Given the description of an element on the screen output the (x, y) to click on. 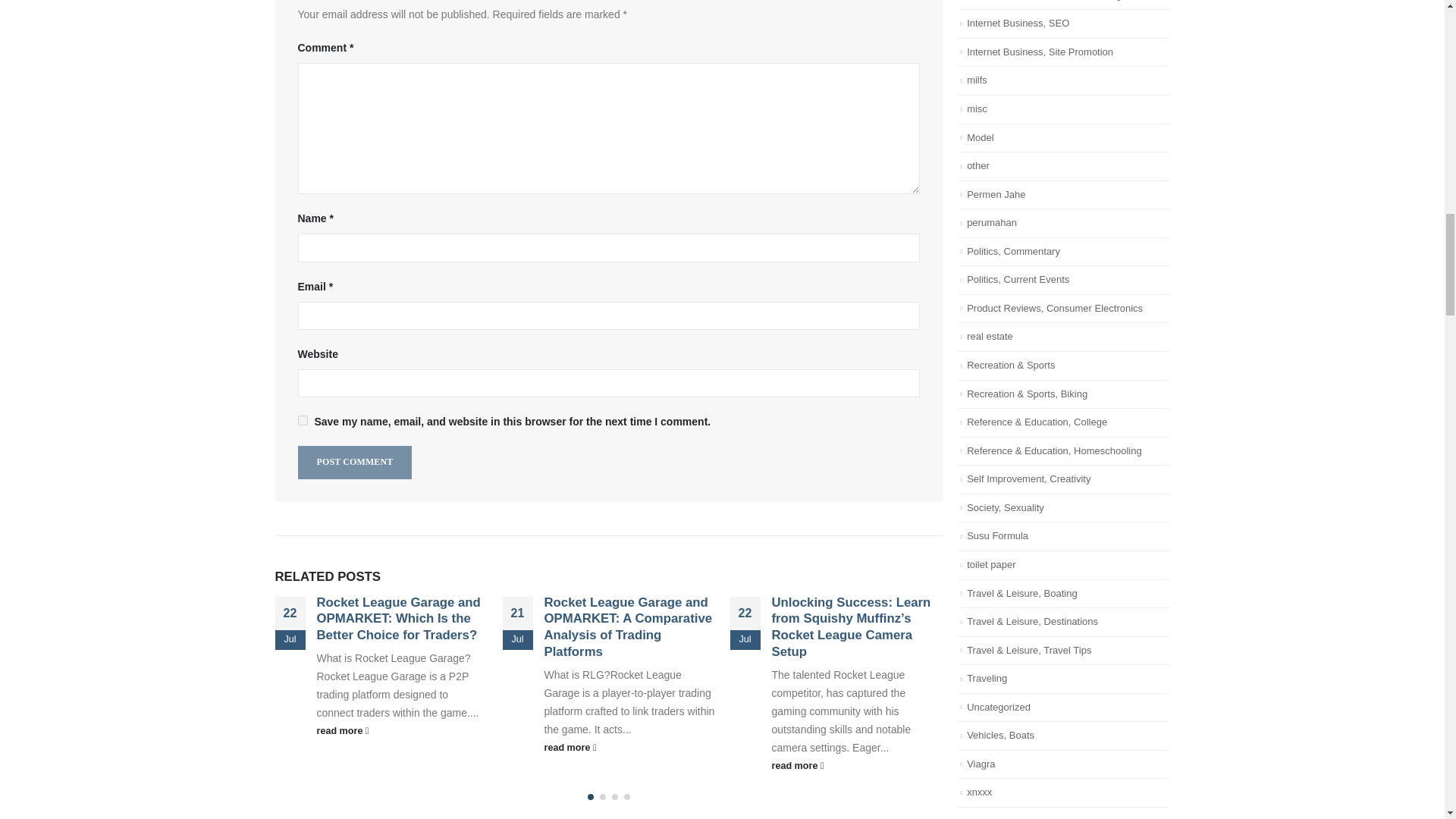
yes (302, 420)
Post Comment (354, 461)
Post Comment (354, 461)
